Given the description of an element on the screen output the (x, y) to click on. 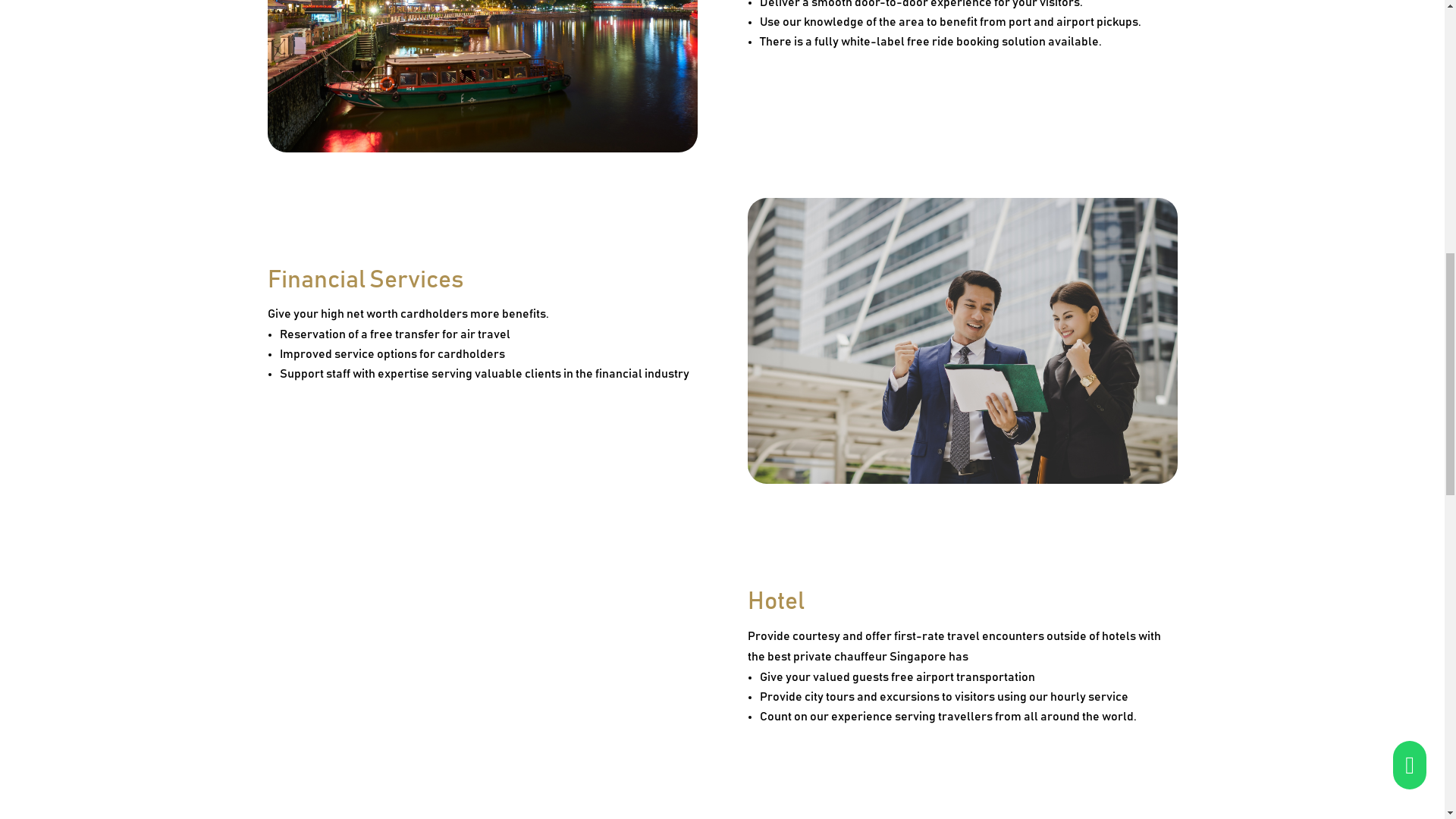
pexels-nextvoyage-3520548 (481, 672)
landscape-amazing-landmark-lights-buildings (481, 76)
business-colleague-talking-viewing-documents-outdoor (962, 341)
